Given the description of an element on the screen output the (x, y) to click on. 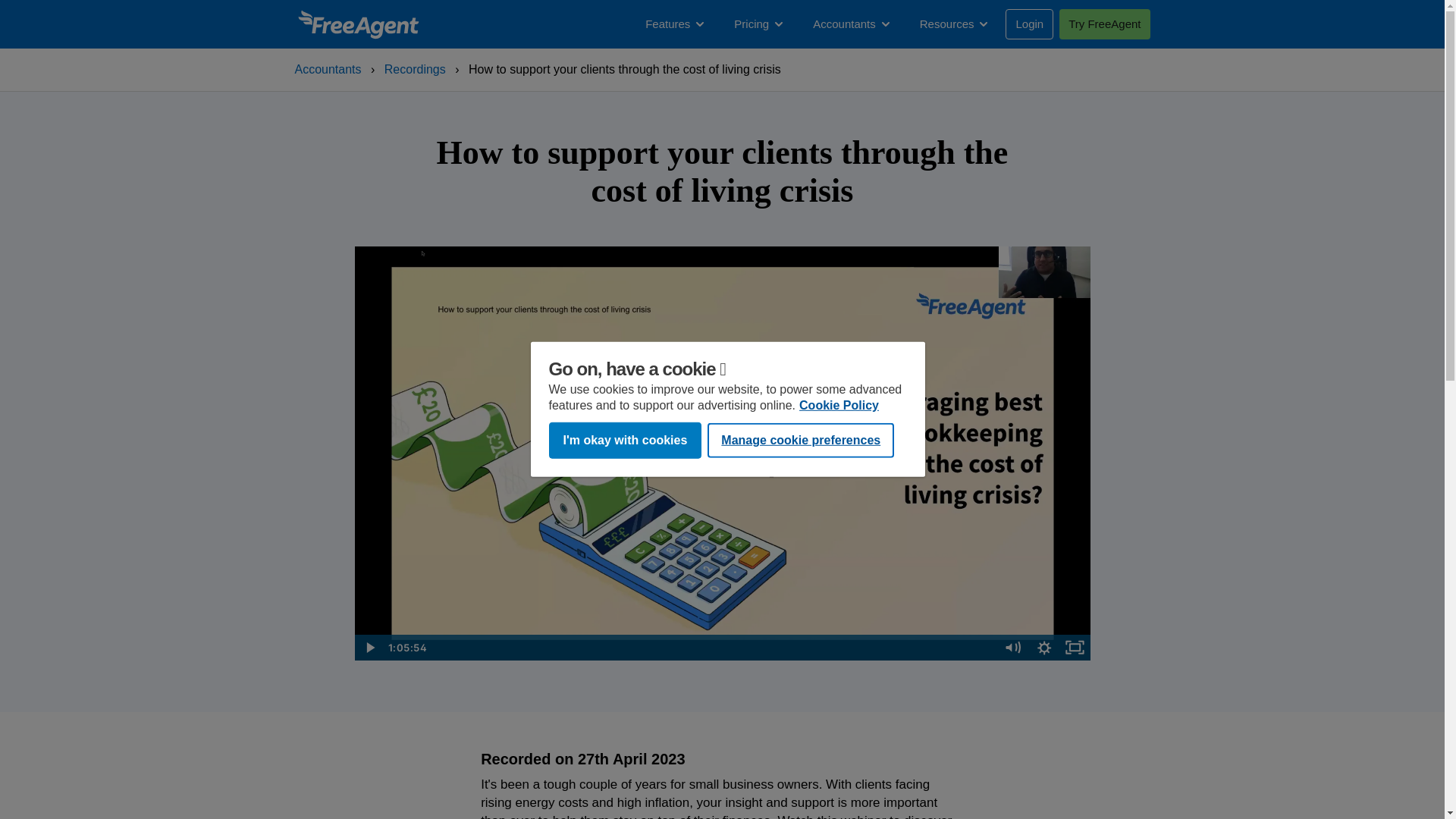
Show settings menu (1044, 647)
